Given the description of an element on the screen output the (x, y) to click on. 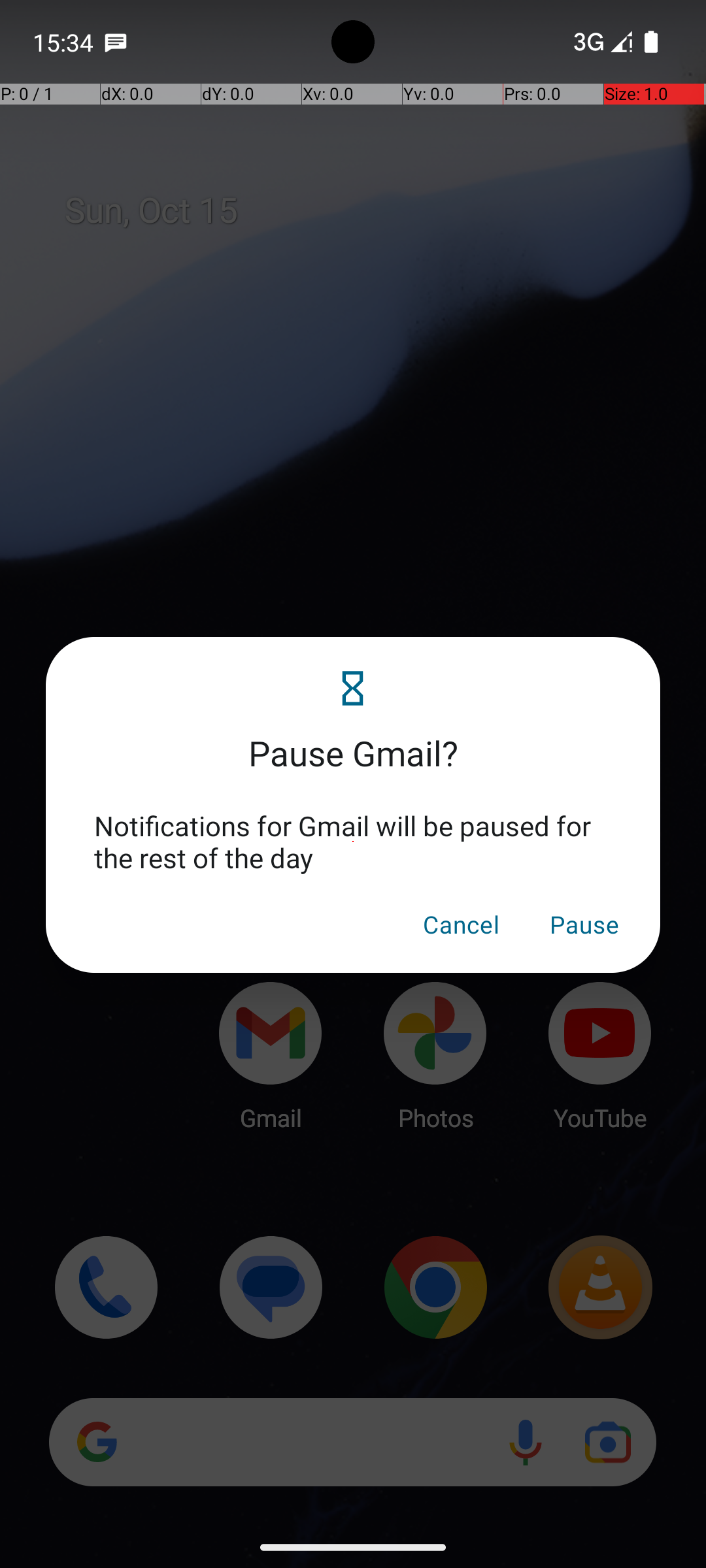
Pause Gmail? Element type: android.widget.TextView (352, 736)
Notifications for Gmail will be paused for the rest of the day Element type: android.widget.TextView (352, 841)
Pause Element type: android.widget.Button (584, 924)
